Given the description of an element on the screen output the (x, y) to click on. 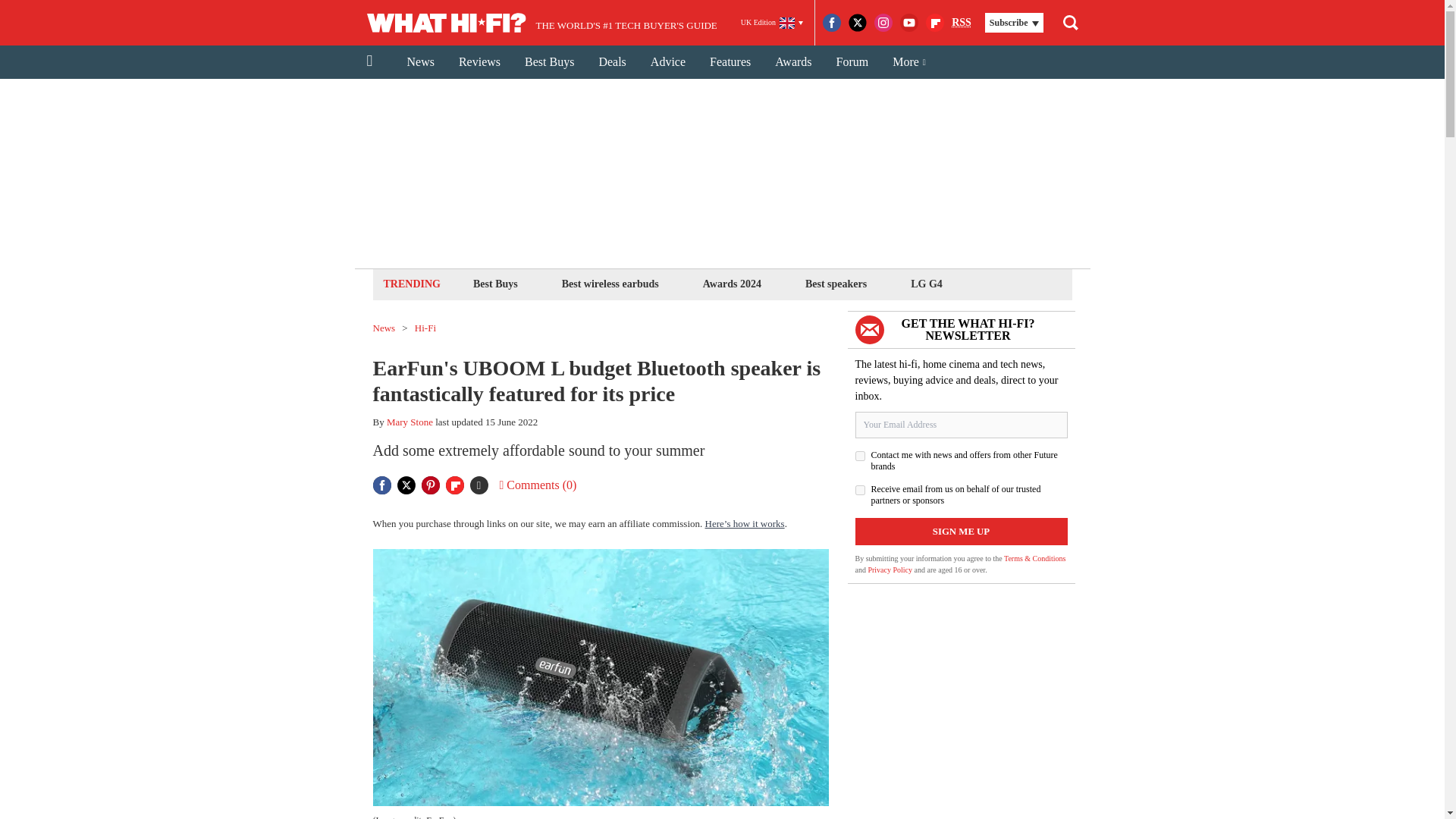
on (860, 456)
Awards (793, 61)
Awards 2024 (732, 283)
RSS (961, 22)
Features (729, 61)
Forum (852, 61)
Reviews (479, 61)
Best speakers (835, 283)
Mary Stone (409, 421)
Deals (611, 61)
